Given the description of an element on the screen output the (x, y) to click on. 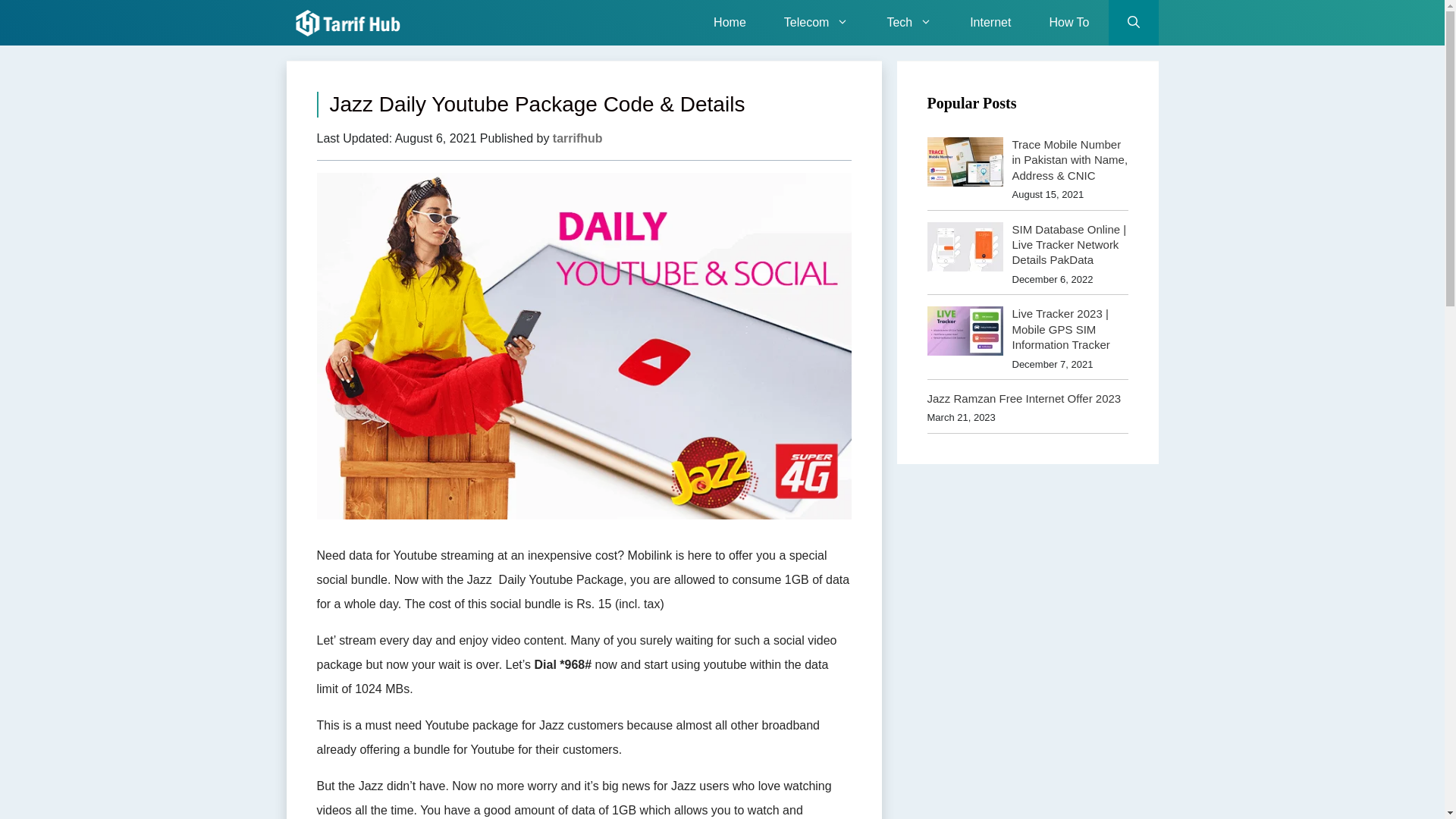
How To (1068, 22)
Tarrif Hub (348, 22)
tarrifhub (577, 137)
Home (729, 22)
View all posts by tarrifhub (577, 137)
Tech (908, 22)
Internet (989, 22)
Telecom (816, 22)
Tarrif Hub (352, 22)
Jazz Ramzan Free Internet Offer 2023 (1023, 398)
